Given the description of an element on the screen output the (x, y) to click on. 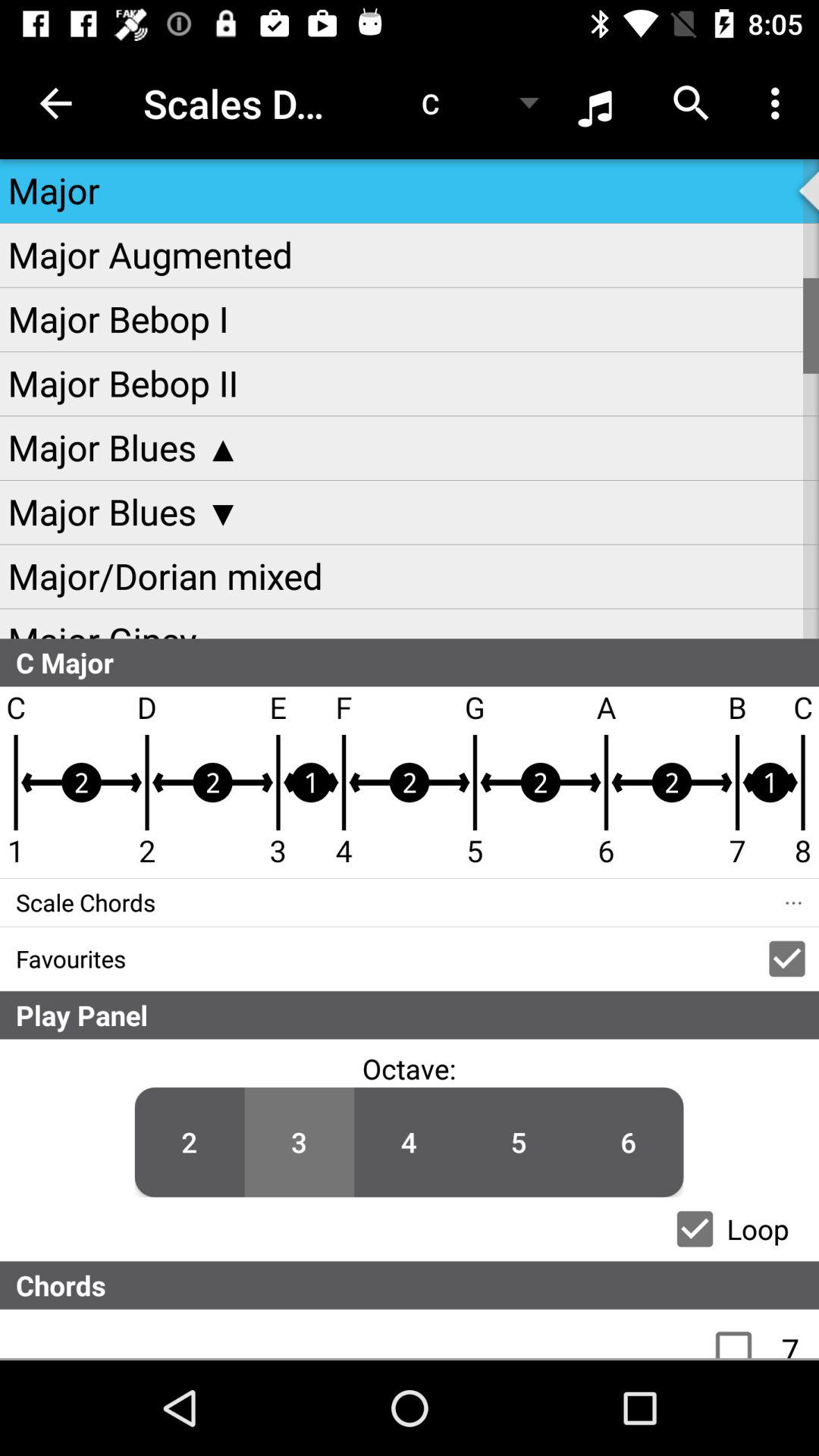
uncheck favorites (787, 958)
